Given the description of an element on the screen output the (x, y) to click on. 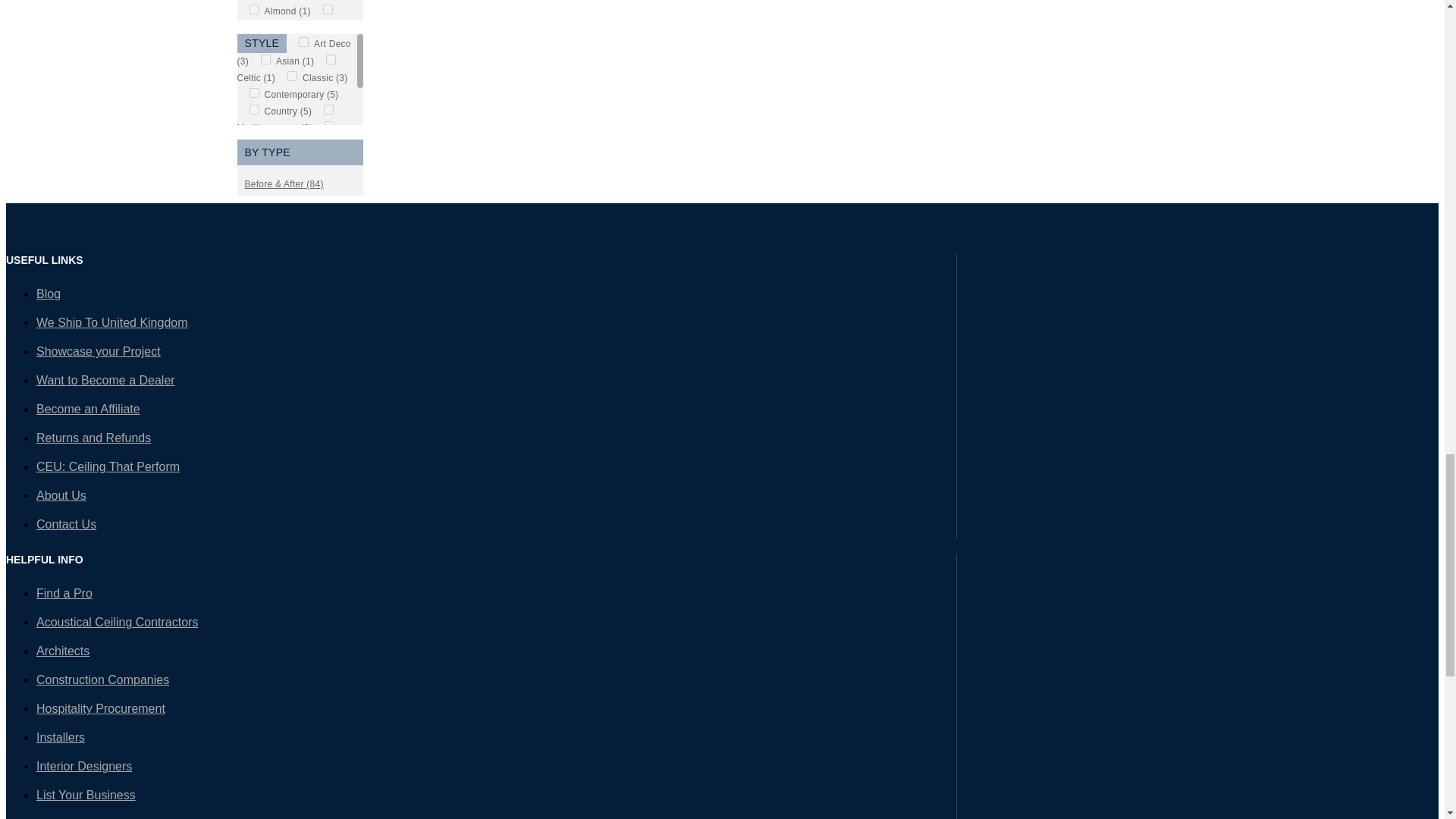
Find a Pro (64, 593)
Installers (60, 737)
Hospitality Procurement (100, 707)
Construction Companies (102, 679)
Acoustical Ceiling Contractors (117, 621)
Architects (62, 650)
